Given the description of an element on the screen output the (x, y) to click on. 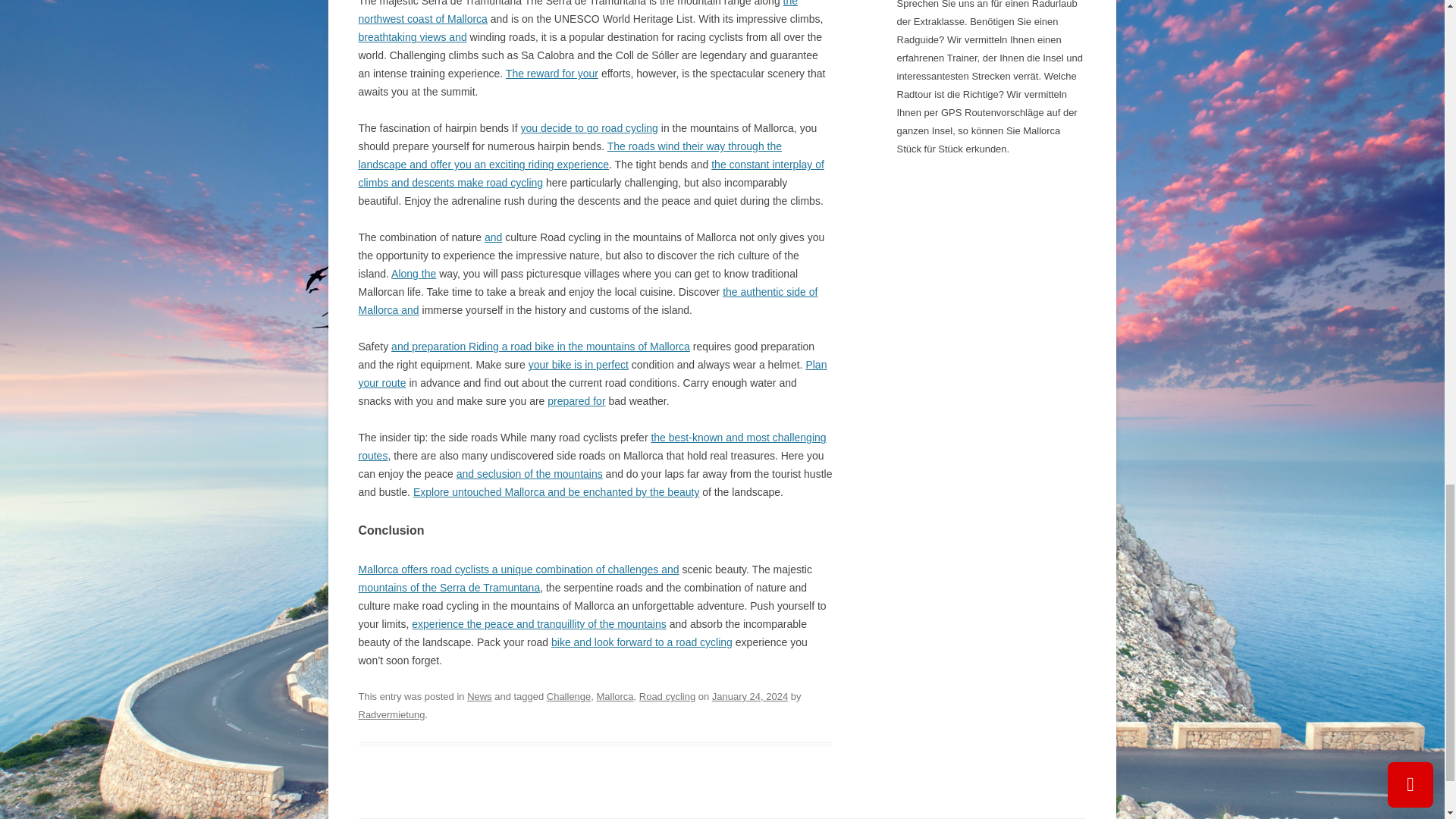
your bike is in perfect (578, 364)
the best-known and most challenging routes (591, 446)
breathtaking views and (411, 37)
Plan your route (592, 373)
the northwest coast of Mallorca (577, 12)
experience the peace and tranquillity of the mountains (538, 623)
and (493, 236)
you decide to go road cycling (589, 128)
The reward for your (551, 73)
mountains of the Serra de Tramuntana (449, 587)
12:00 am (749, 696)
Along the (413, 273)
View all posts by Radvermietung (391, 714)
